Given the description of an element on the screen output the (x, y) to click on. 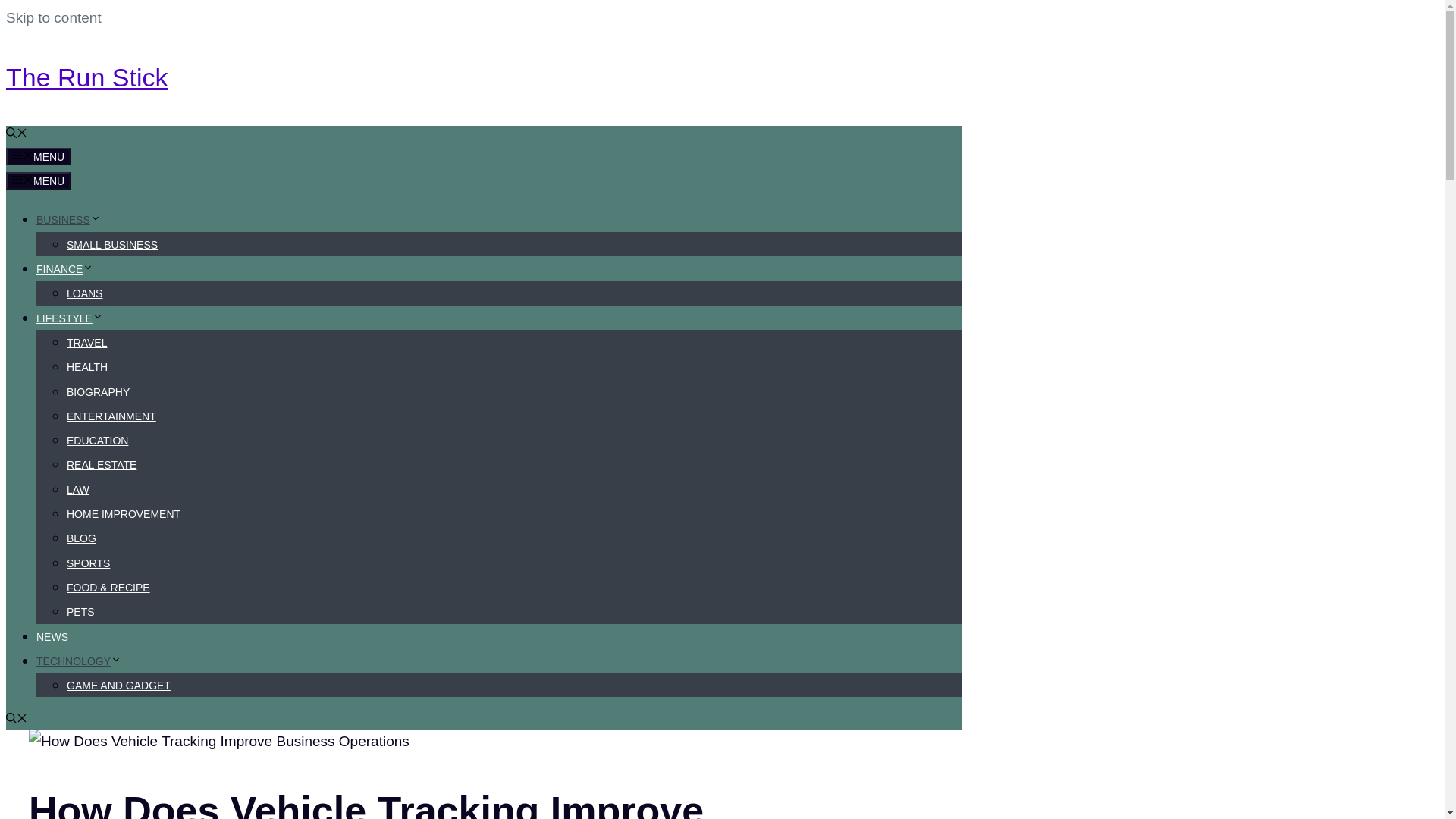
ENTERTAINMENT (110, 416)
MENU (37, 156)
BIOGRAPHY (97, 391)
Skip to content (53, 17)
LAW (77, 490)
REAL ESTATE (101, 464)
EDUCATION (97, 440)
PETS (80, 612)
SMALL BUSINESS (111, 244)
LIFESTYLE (69, 318)
